Given the description of an element on the screen output the (x, y) to click on. 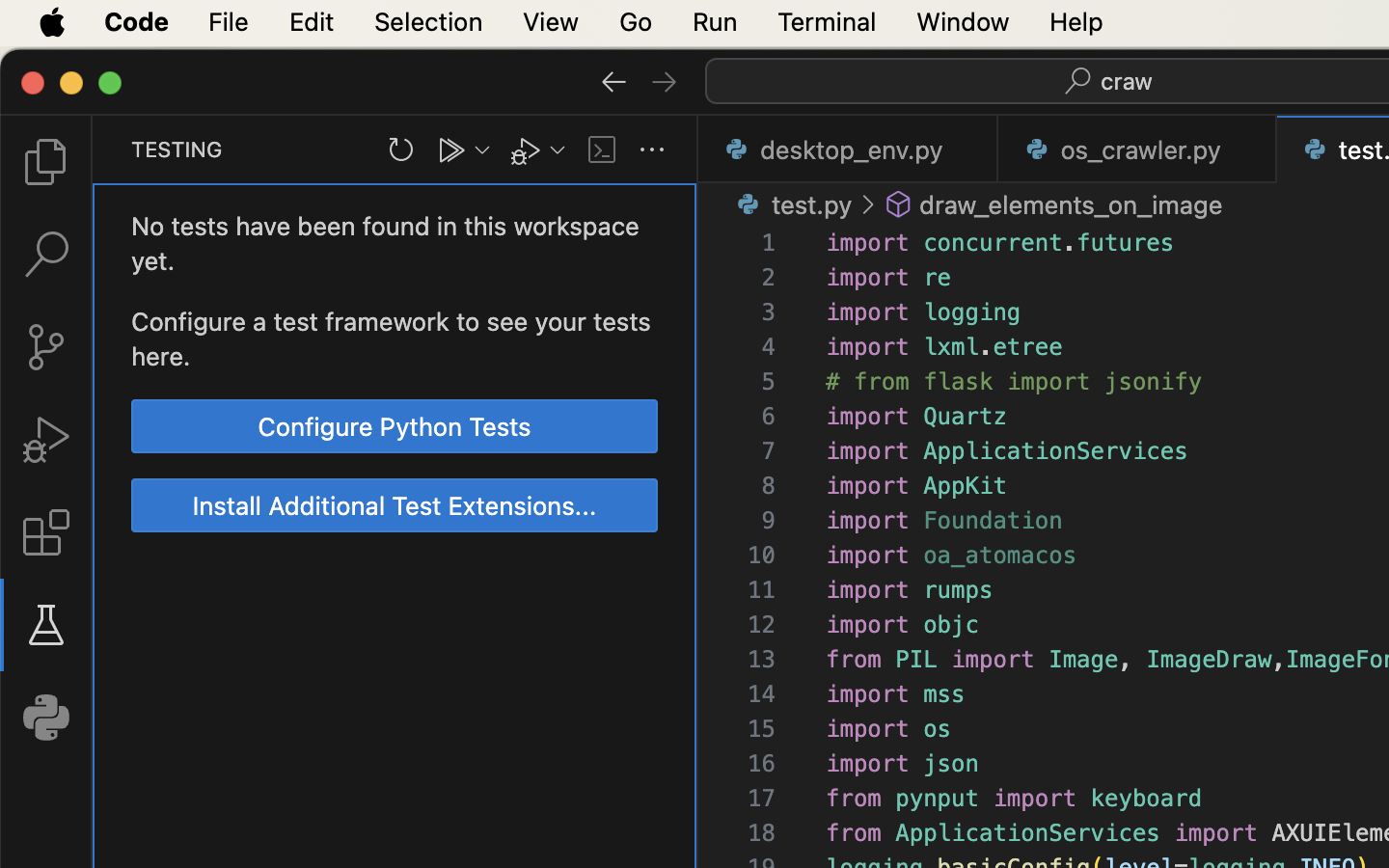
0  Element type: AXRadioButton (46, 346)
 Element type: AXButton (664, 80)
